Given the description of an element on the screen output the (x, y) to click on. 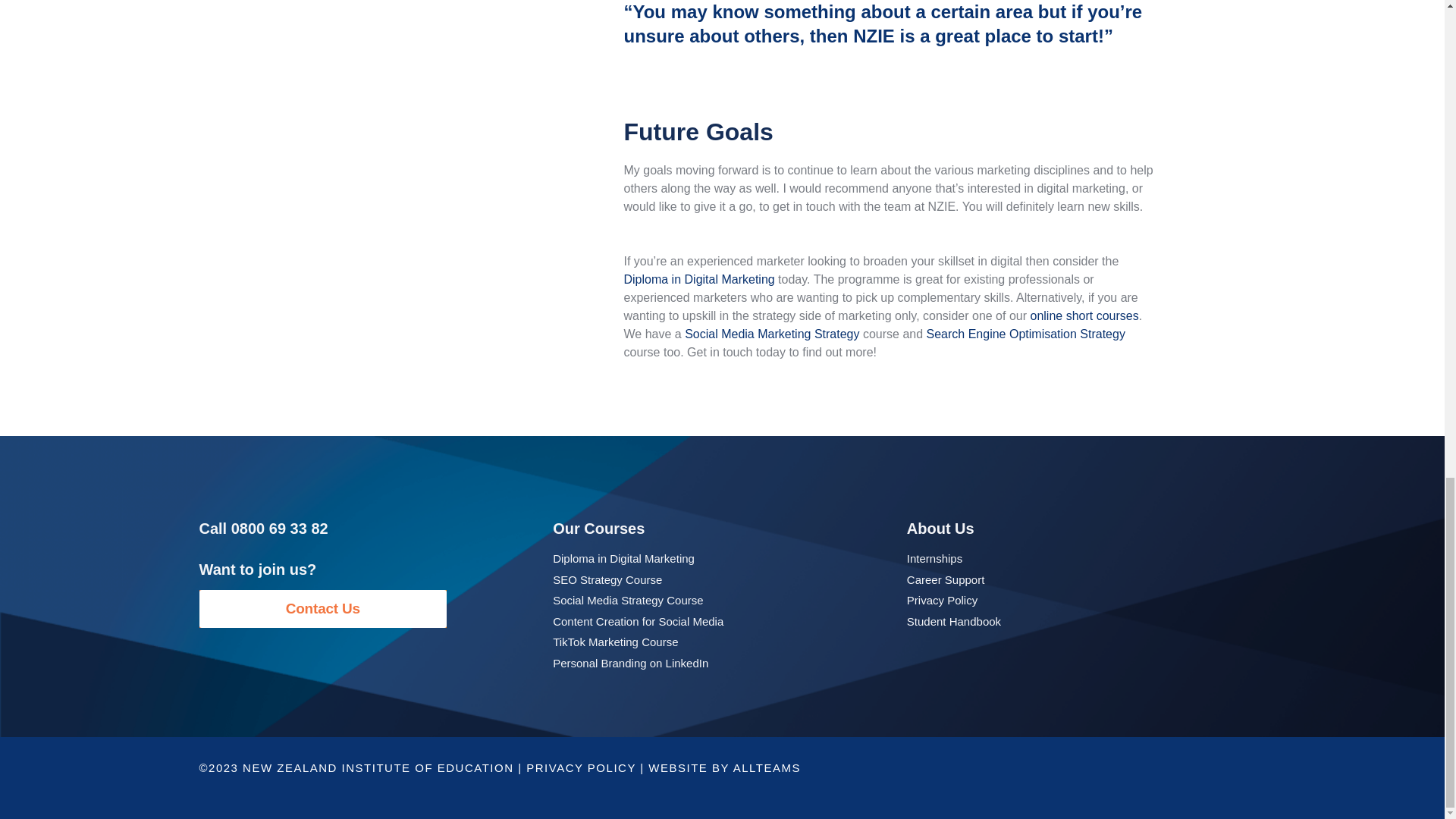
online short courses (1083, 315)
Search Engine Optimisation Strategy (1025, 333)
Social Media Marketing Strategy (771, 333)
Diploma in Digital Marketing (698, 278)
Website Design, AllTeams (766, 767)
Auckland NZ Website Design, Professional Website Designers (679, 767)
Call 0800 69 33 82 (262, 528)
